Given the description of an element on the screen output the (x, y) to click on. 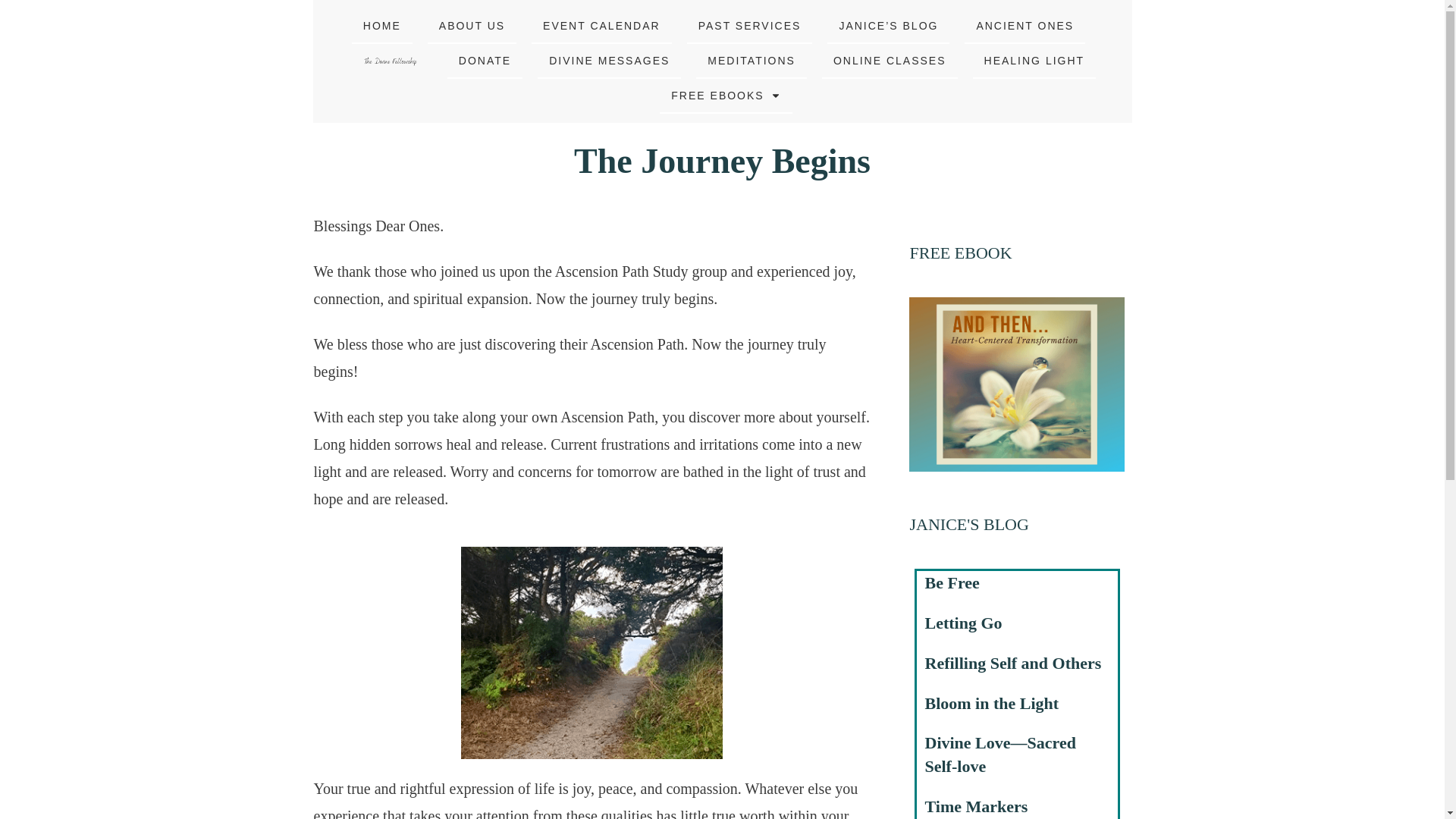
HOME (381, 25)
Be Free (951, 582)
DONATE (484, 60)
And Then (1016, 384)
HEALING LIGHT (1034, 60)
Refilling Self and Others (1013, 662)
Letting Go (963, 622)
Refilling Self and Others (1013, 662)
ONLINE CLASSES (889, 60)
Time Markers (975, 805)
